Given the description of an element on the screen output the (x, y) to click on. 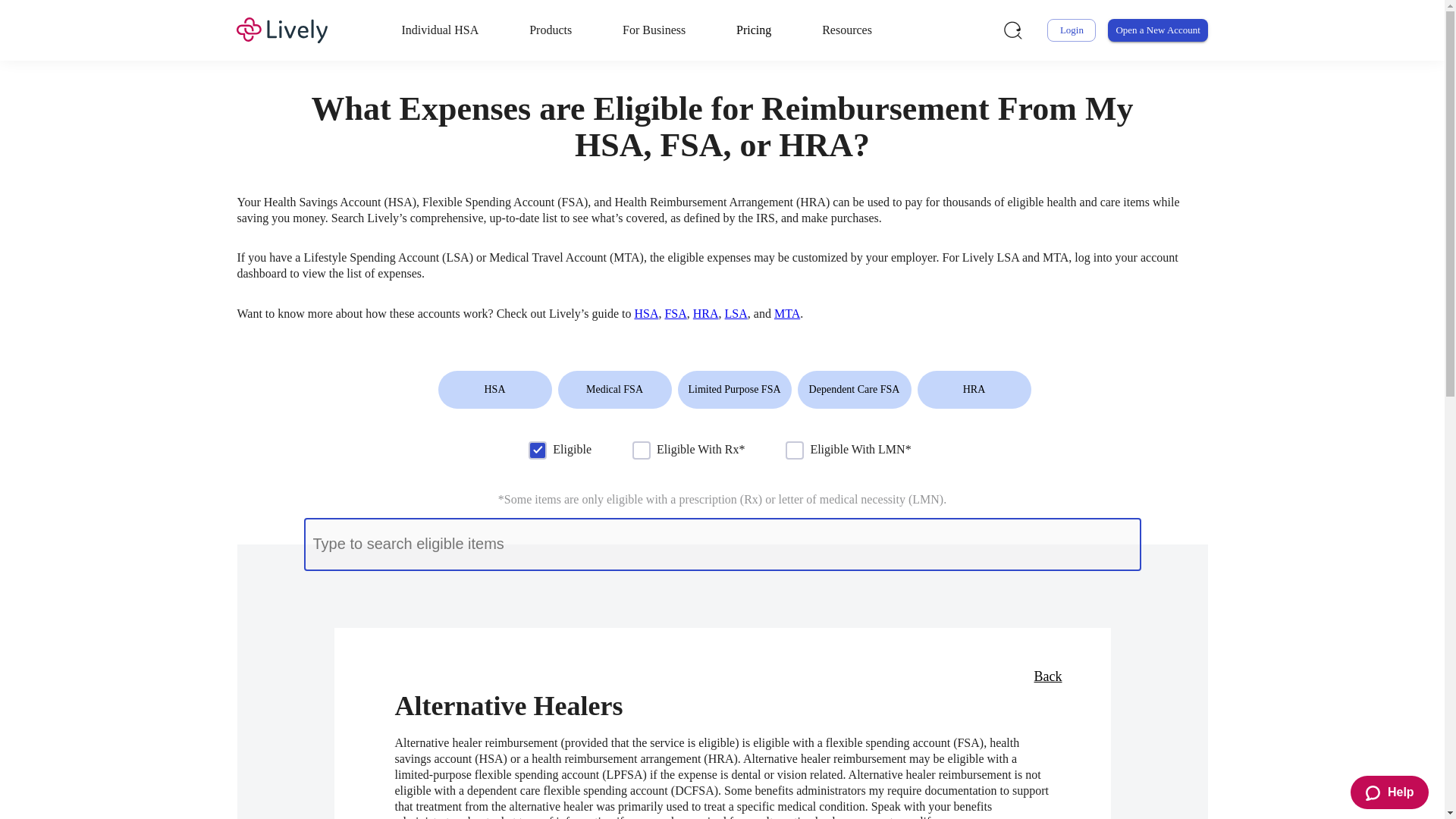
Individual HSA (440, 30)
Products (550, 30)
2 (640, 450)
1 (537, 450)
3 (794, 450)
For Business (654, 30)
